Given the description of an element on the screen output the (x, y) to click on. 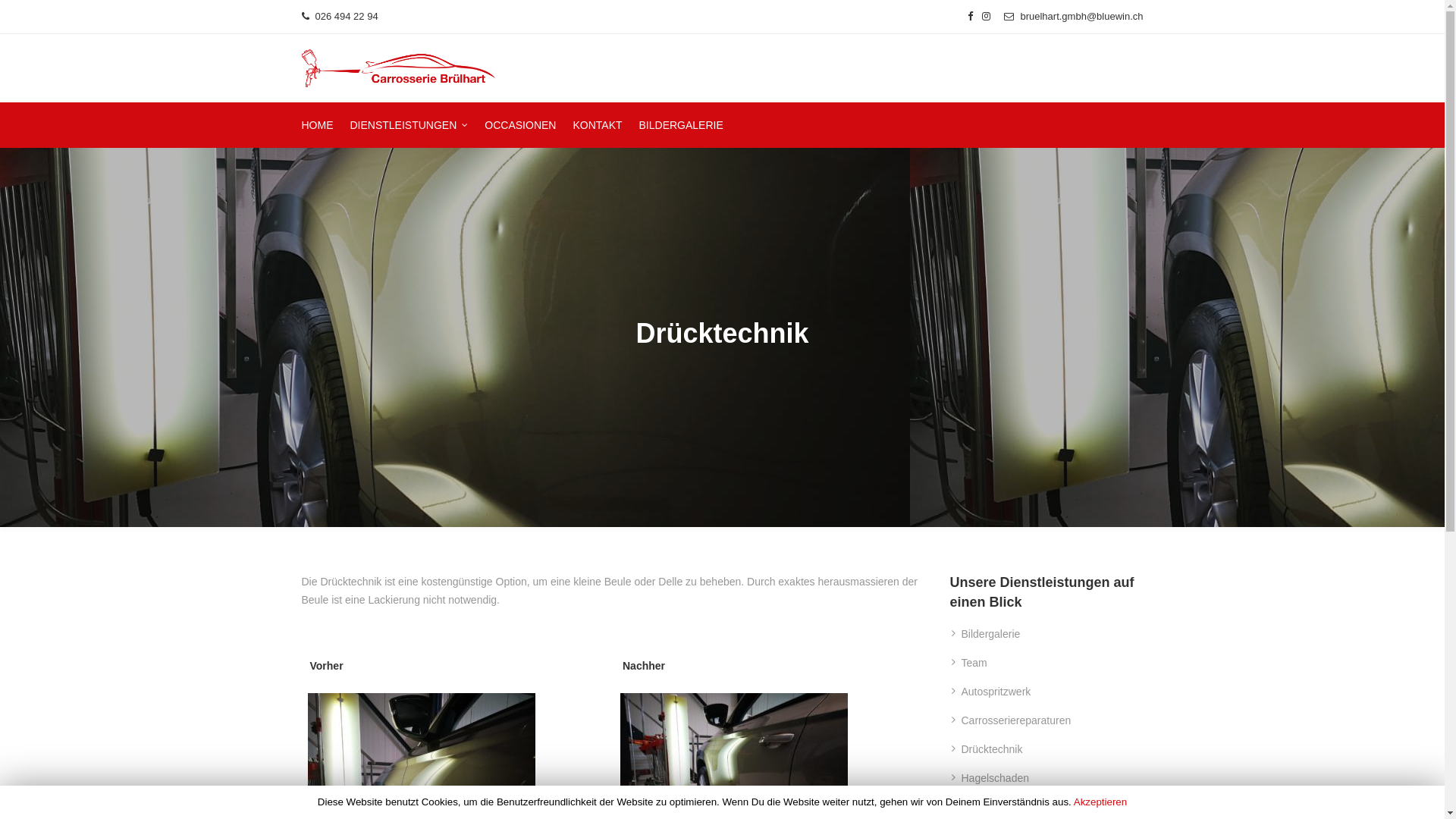
Team Element type: text (974, 662)
KONTAKT Element type: text (596, 124)
Scheibenersatz Und Reparaturen Element type: text (1040, 806)
Bildergalerie Element type: text (990, 633)
BILDERGALERIE Element type: text (681, 124)
OCCASIONEN Element type: text (519, 124)
Hagelschaden Element type: text (995, 777)
Carrosseriereparaturen Element type: text (1016, 720)
 026 494 22 94 Element type: text (339, 15)
DIENSTLEISTUNGEN Element type: text (409, 124)
Autospritzwerk Element type: text (996, 691)
Akzeptieren Element type: text (1099, 801)
HOME Element type: text (317, 124)
 bruelhart.gmbh@bluewin.ch Element type: text (1073, 15)
